Given the description of an element on the screen output the (x, y) to click on. 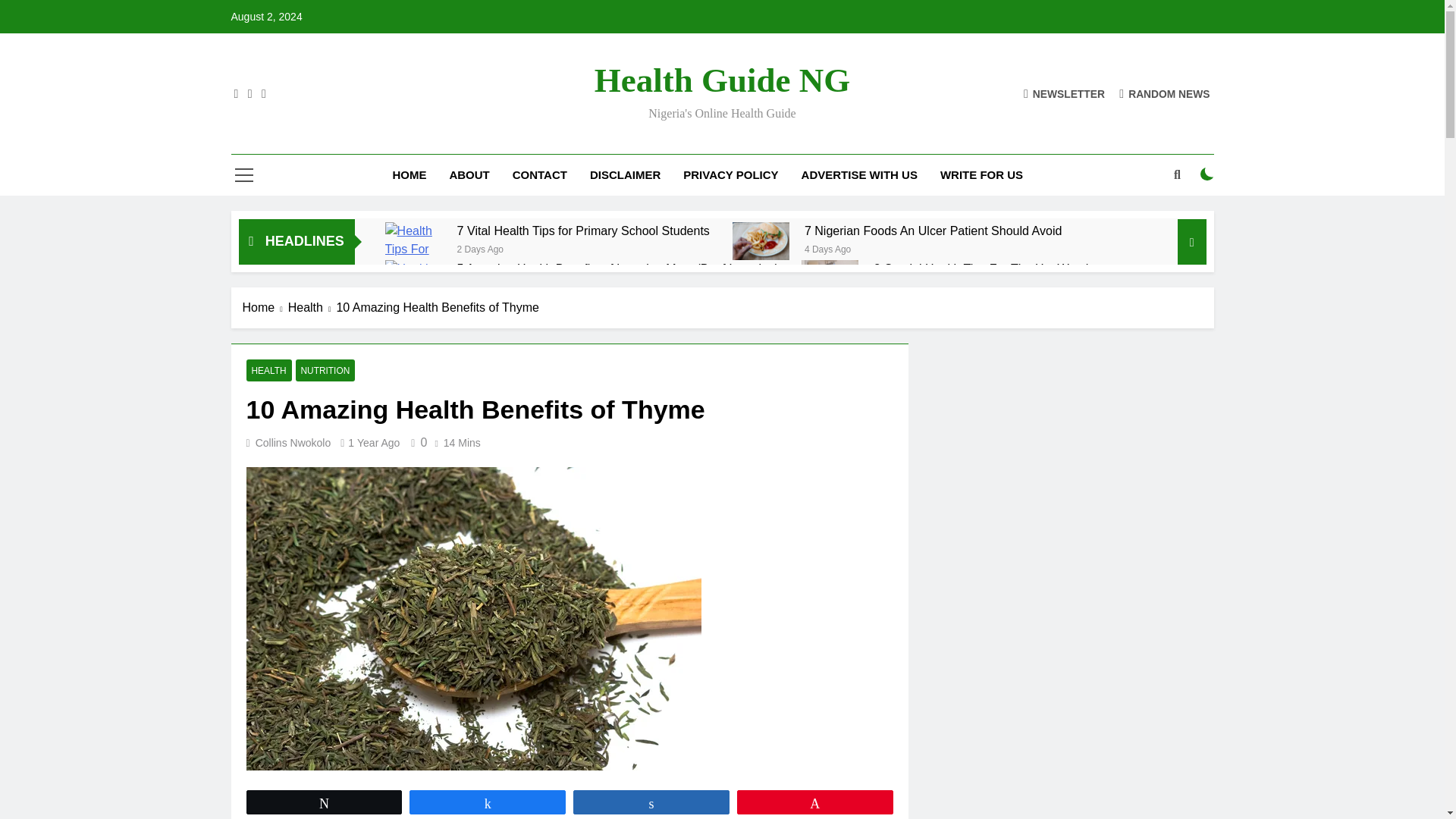
NEWSLETTER (1064, 92)
7 Nigerian Foods An Ulcer Patient Should Avoid (760, 240)
7 Vital Health Tips for Primary School Students (413, 240)
RANDOM NEWS (1164, 92)
Health Guide NG (722, 80)
PRIVACY POLICY (730, 174)
7 Vital Health Tips for Primary School Students (583, 230)
7 Nigerian Foods An Ulcer Patient Should Avoid (933, 230)
HOME (409, 174)
CONTACT (539, 174)
7 Nigerian Foods An Ulcer Patient Should Avoid (933, 230)
WRITE FOR US (980, 174)
8 Crucial Health Tips For The Hot Weather (830, 278)
7 Vital Health Tips for Primary School Students (583, 230)
ADVERTISE WITH US (859, 174)
